Given the description of an element on the screen output the (x, y) to click on. 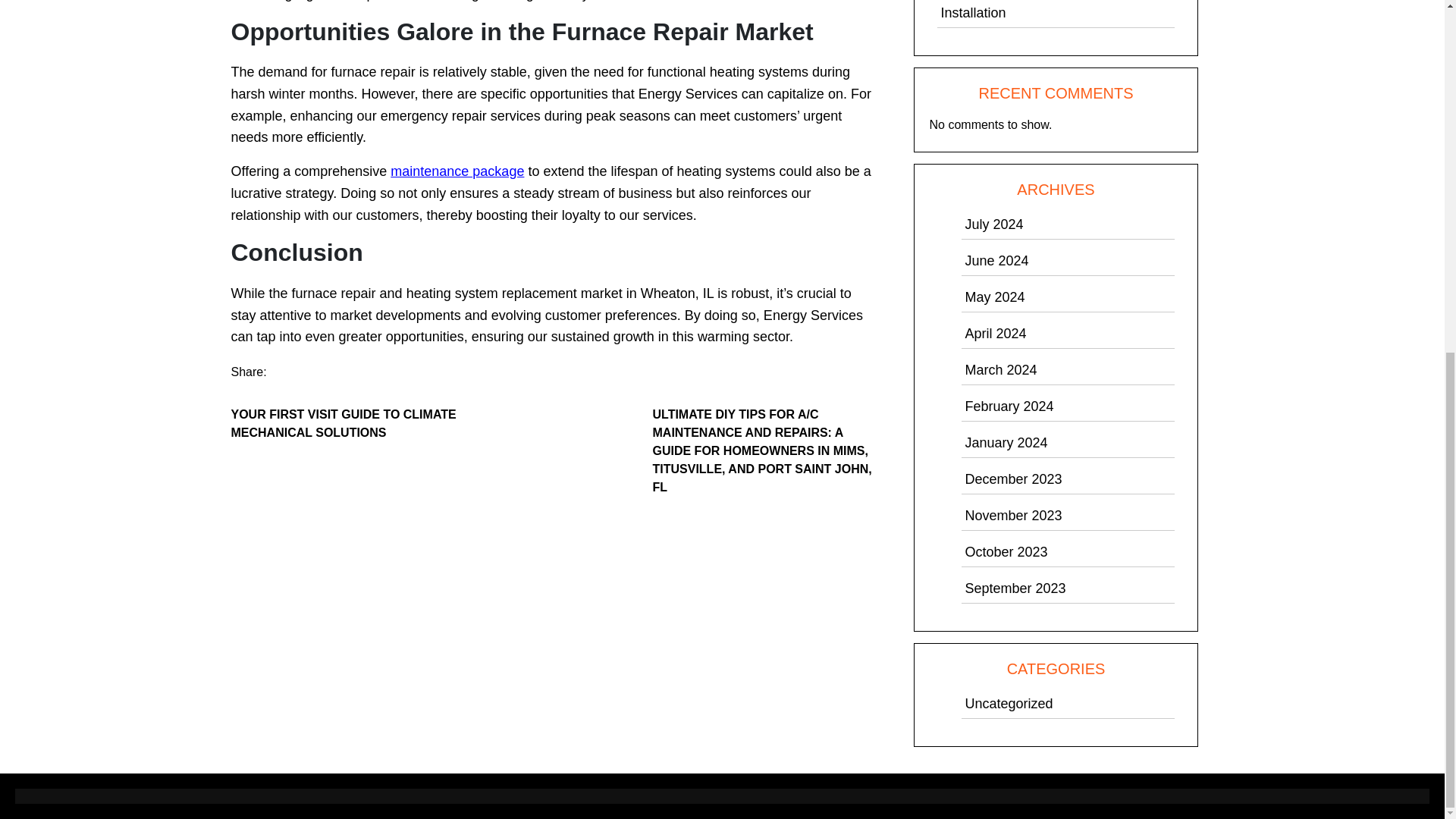
Uncategorized (1007, 703)
October 2023 (1004, 551)
YOUR FIRST VISIT GUIDE TO CLIMATE MECHANICAL SOLUTIONS (344, 423)
November 2023 (1012, 515)
September 2023 (1014, 588)
May 2024 (994, 296)
January 2024 (1004, 442)
July 2024 (993, 224)
December 2023 (1012, 478)
April 2024 (994, 333)
maintenance package (457, 171)
March 2024 (999, 369)
June 2024 (995, 260)
February 2024 (1007, 406)
